Given the description of an element on the screen output the (x, y) to click on. 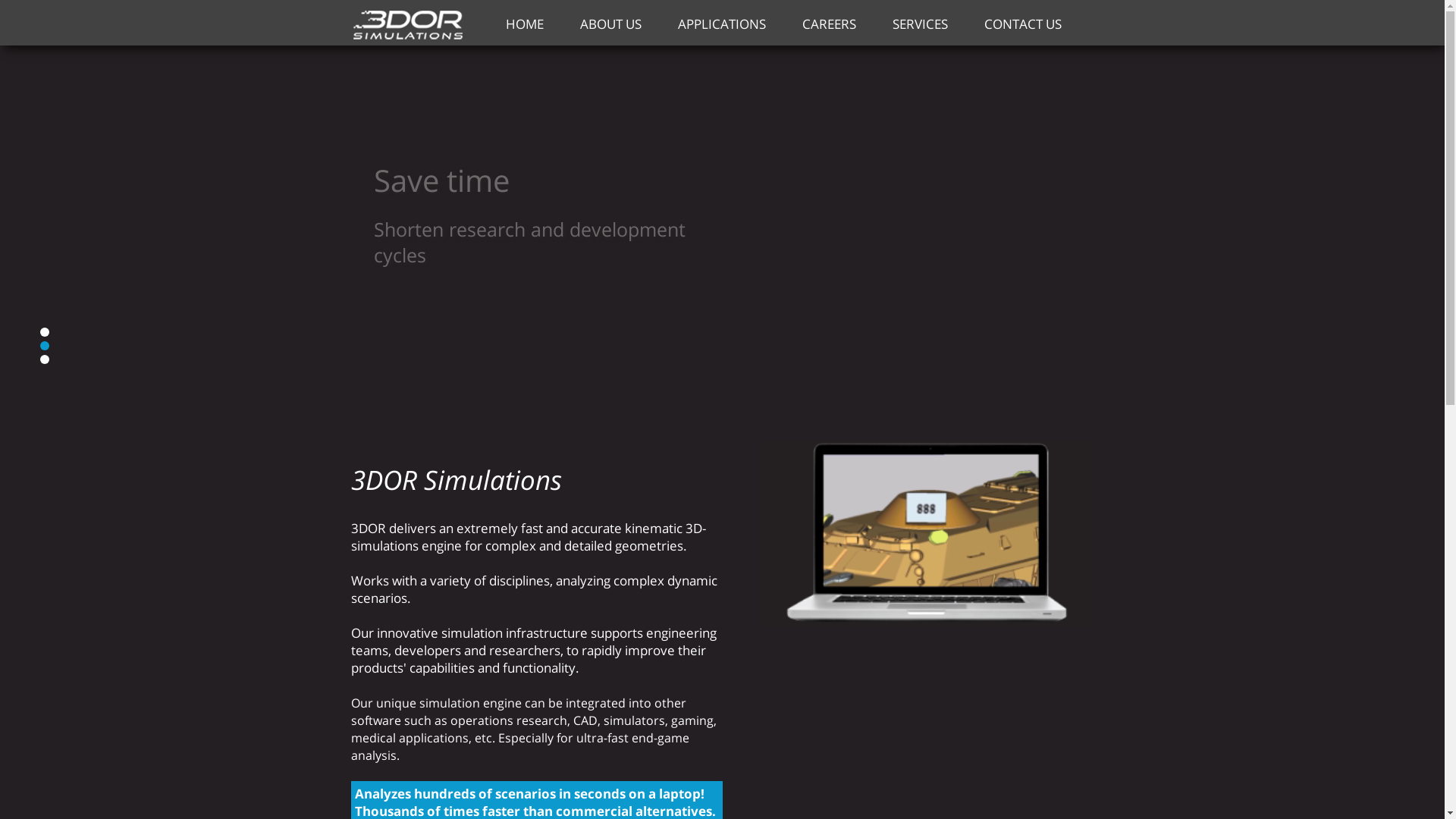
ABOUT US Element type: text (609, 23)
APPLICATIONS Element type: text (721, 23)
HOME Element type: text (523, 23)
CAREERS Element type: text (829, 23)
CONTACT US Element type: text (1022, 23)
SERVICES Element type: text (919, 23)
